Given the description of an element on the screen output the (x, y) to click on. 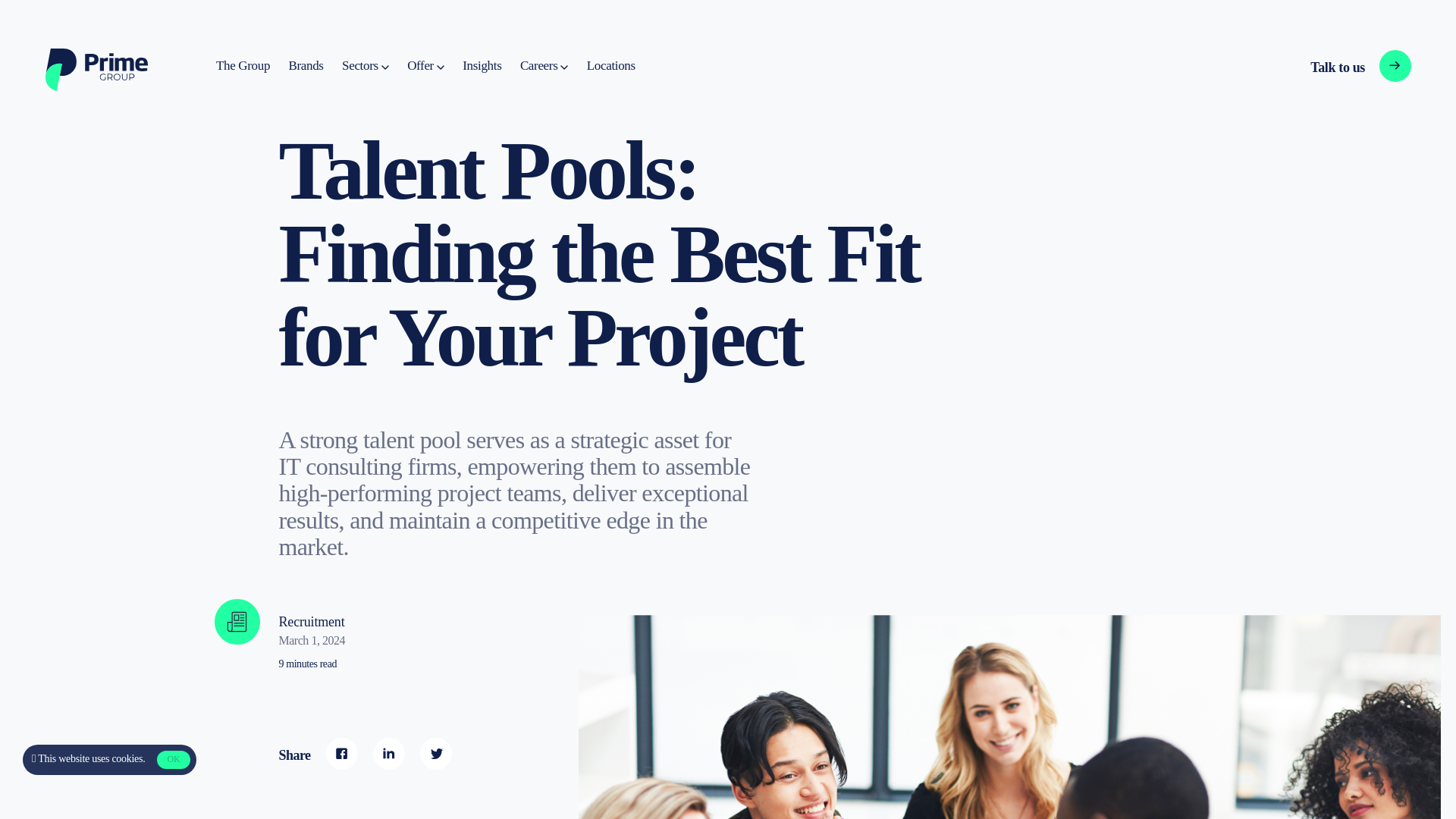
Careers (543, 66)
Insights (481, 66)
Locations (610, 66)
The Group (1334, 67)
Sectors (242, 66)
Offer (365, 66)
Brands (425, 66)
uses cookies. (305, 66)
OK (117, 758)
